Given the description of an element on the screen output the (x, y) to click on. 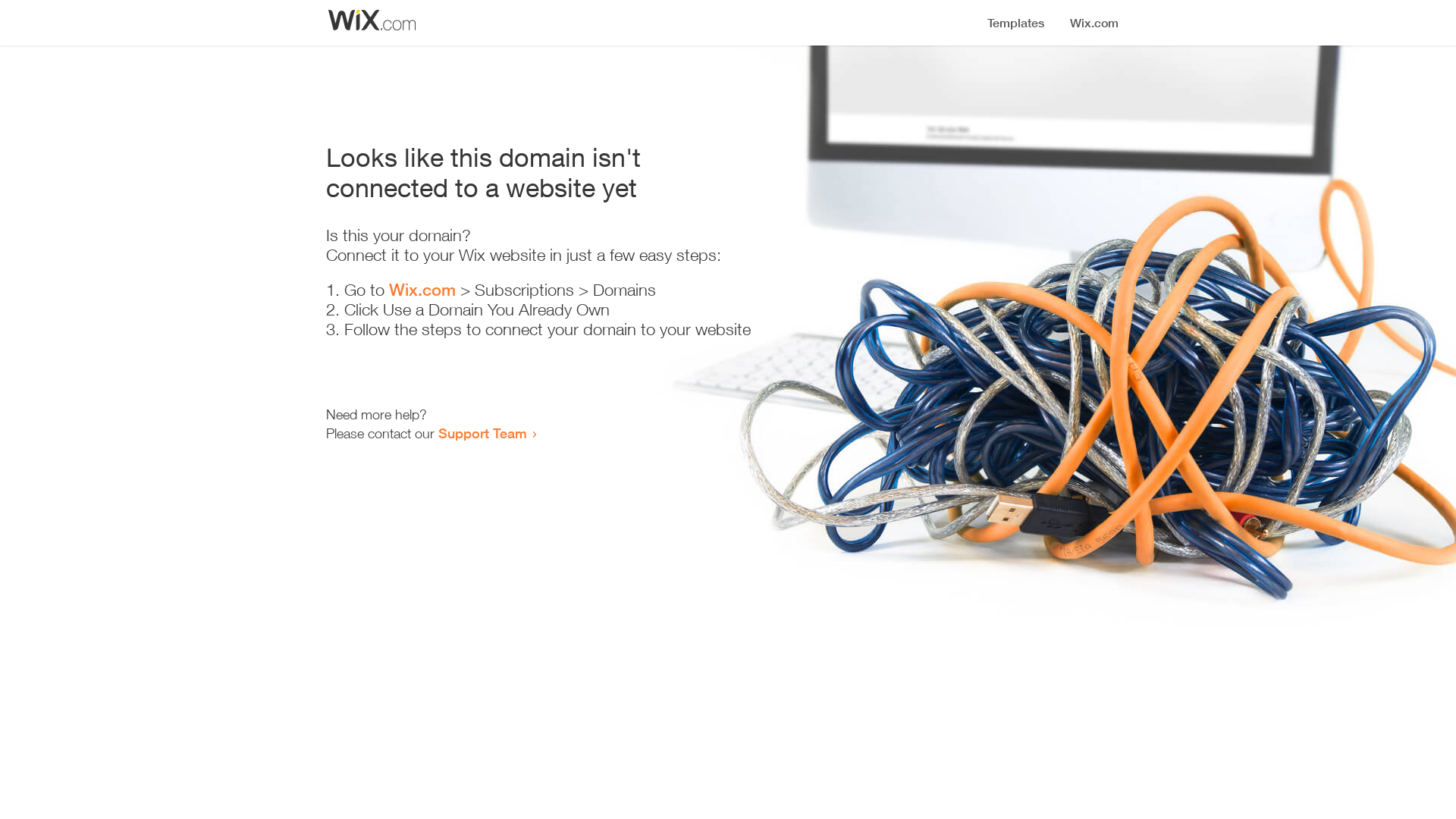
Support Team Element type: text (482, 432)
Wix.com Element type: text (422, 289)
